Given the description of an element on the screen output the (x, y) to click on. 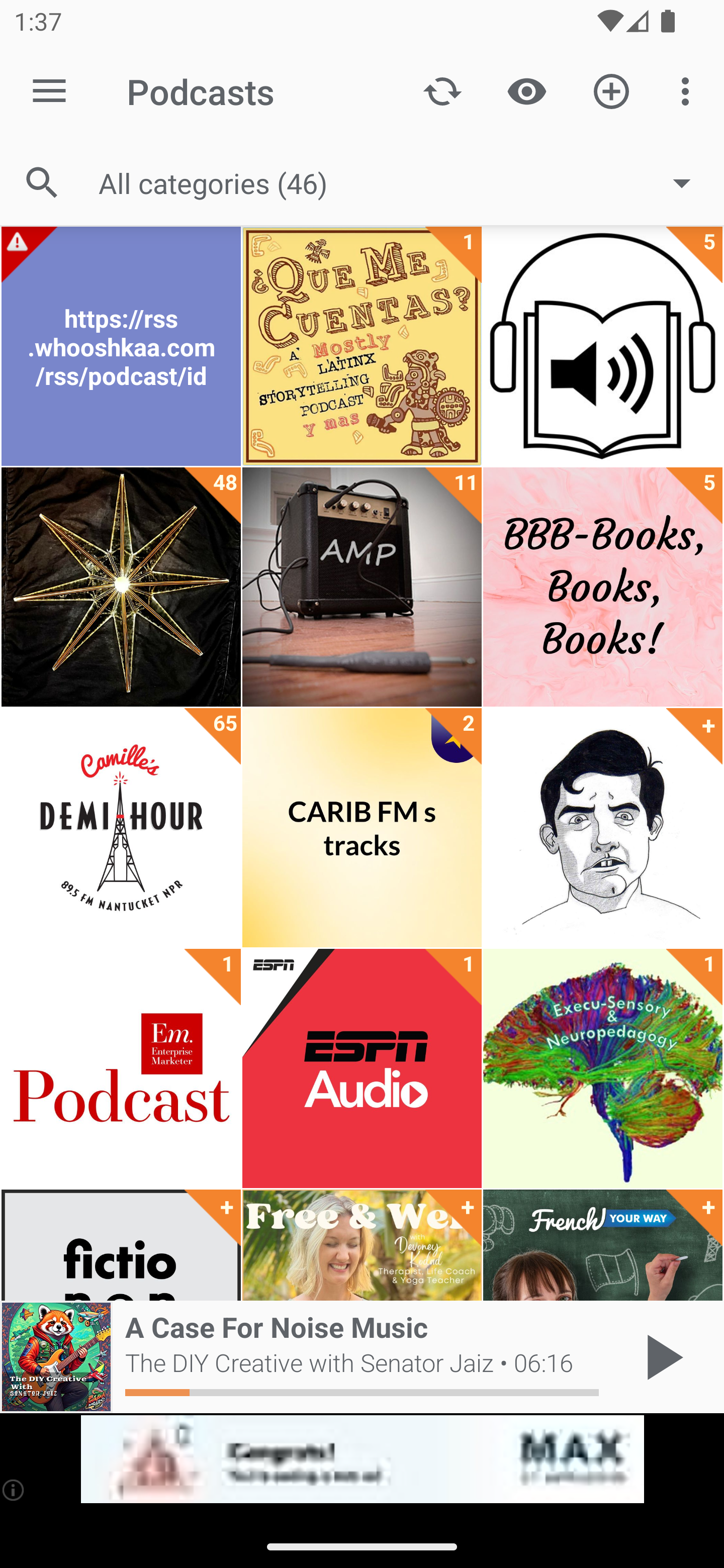
Open navigation sidebar (49, 91)
Update (442, 90)
Show / Hide played content (526, 90)
Add new Podcast (611, 90)
More options (688, 90)
Search (42, 183)
All categories (46) (404, 182)
https://rss.whooshkaa.com/rss/podcast/id/5884 (121, 346)
¿Qué Me Cuentas?: Latinx Storytelling 1 (361, 346)
Audiobooks 5 (602, 346)
Audiobooks 48 (121, 587)
Australian Music Podcasts 11 (361, 587)
BBB-Books, Books, Books! 5 (602, 587)
Camille's Demi-Hour - NANTUCKET NPR 65 (121, 827)
CARIB FM's tracks 2 (361, 827)
Cooking Issues with Dave Arnold + (602, 827)
Enterprise Marketer Podcast - Conference 1 (121, 1068)
ESPN Audio 1 (361, 1068)
Play / Pause (660, 1356)
app-monetization (362, 1459)
(i) (14, 1489)
